Given the description of an element on the screen output the (x, y) to click on. 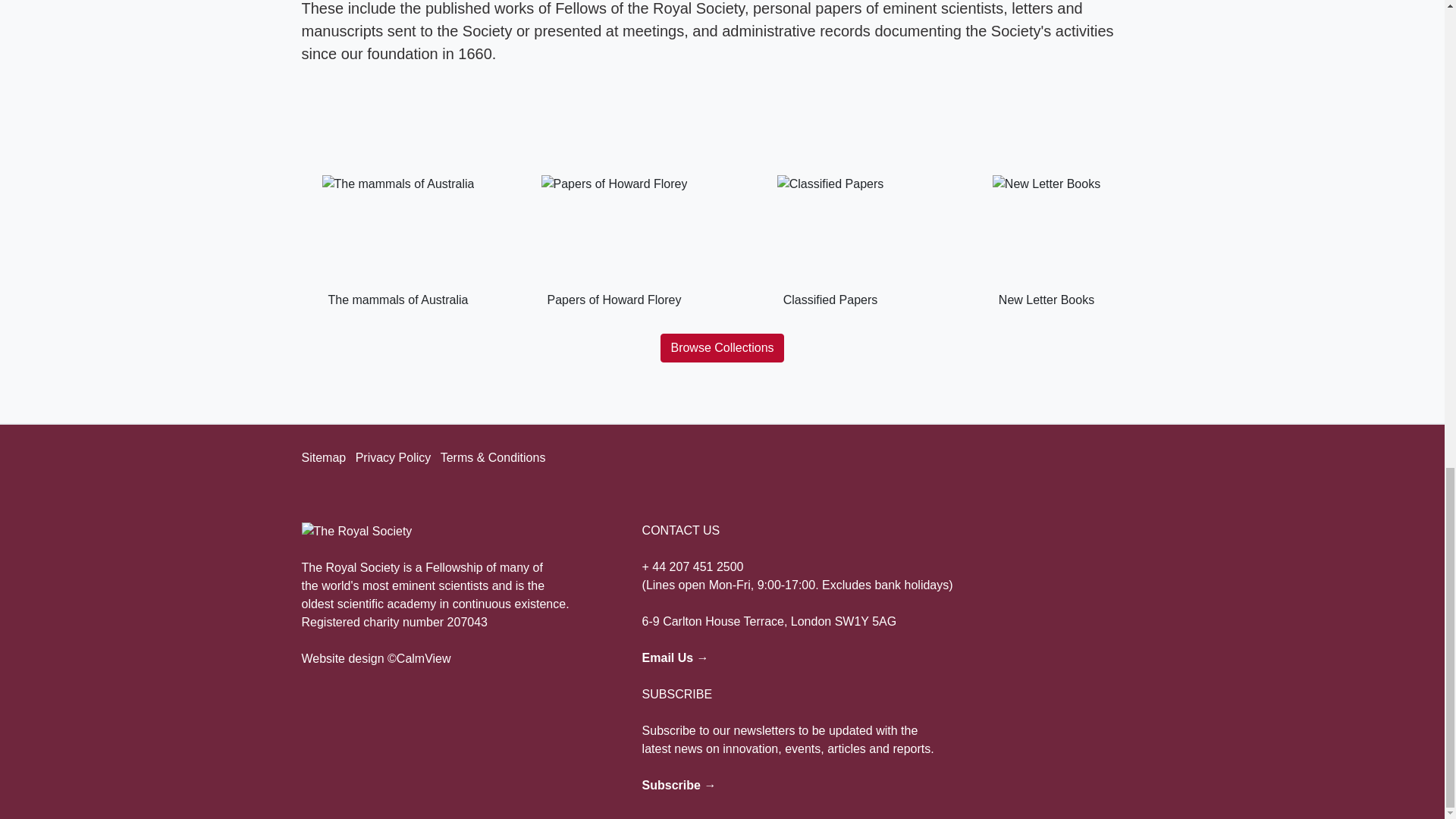
Privacy Policy (392, 457)
Sitemap (323, 457)
Browse Collections (722, 347)
